Given the description of an element on the screen output the (x, y) to click on. 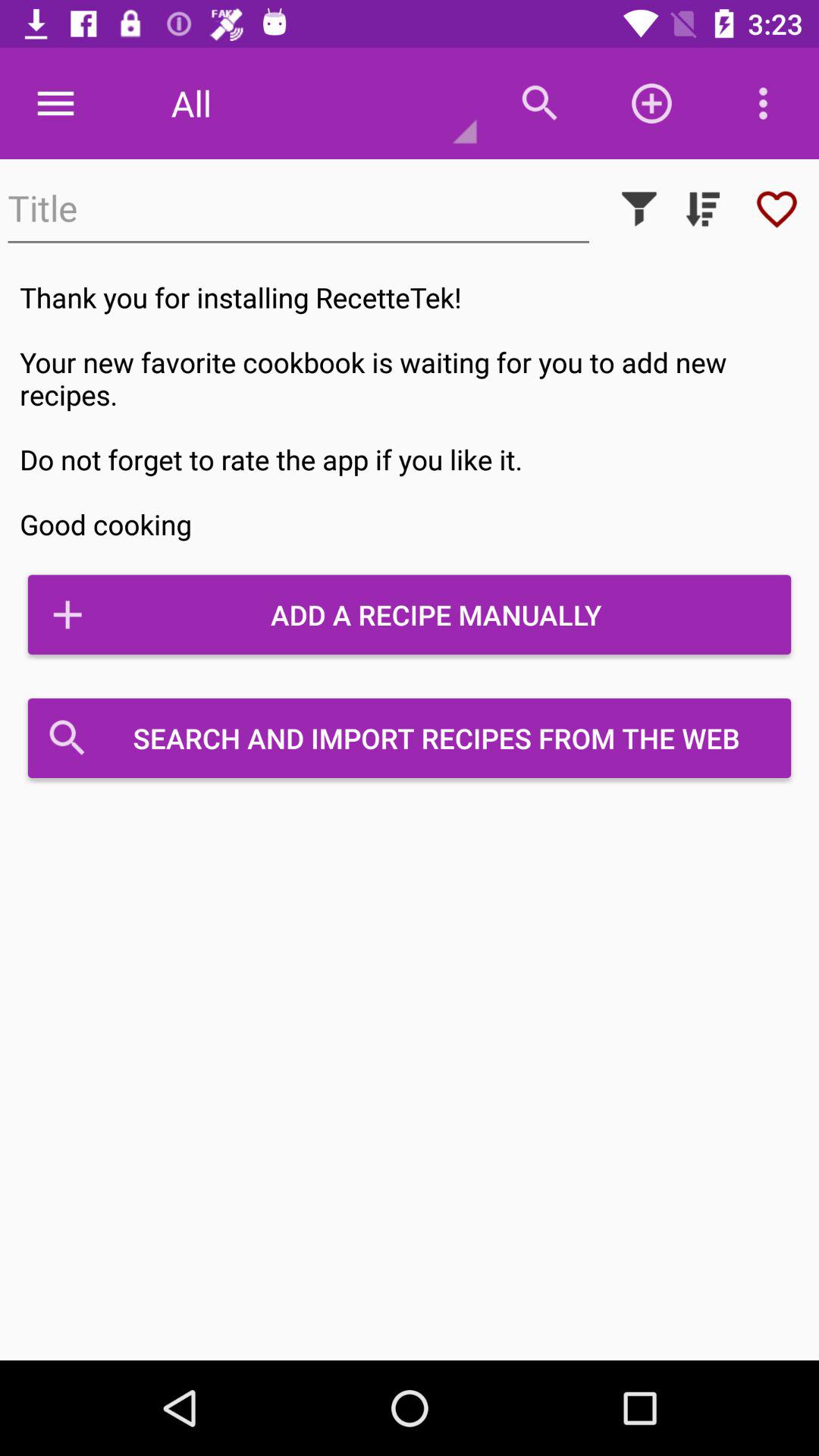
organize search results (702, 208)
